Given the description of an element on the screen output the (x, y) to click on. 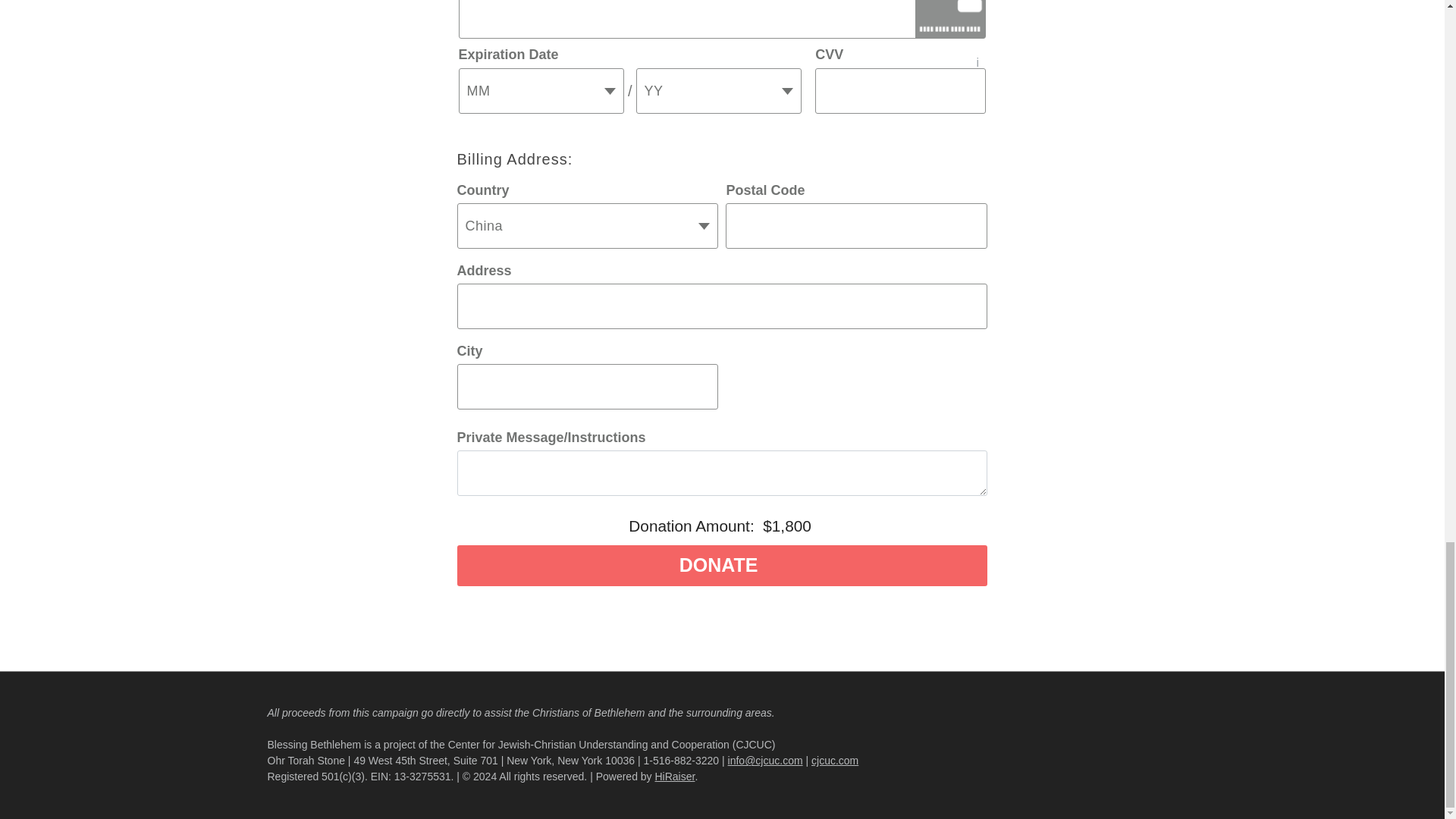
cjcuc.com (834, 760)
HiRaiser (675, 776)
i (975, 55)
DONATE (722, 565)
